Given the description of an element on the screen output the (x, y) to click on. 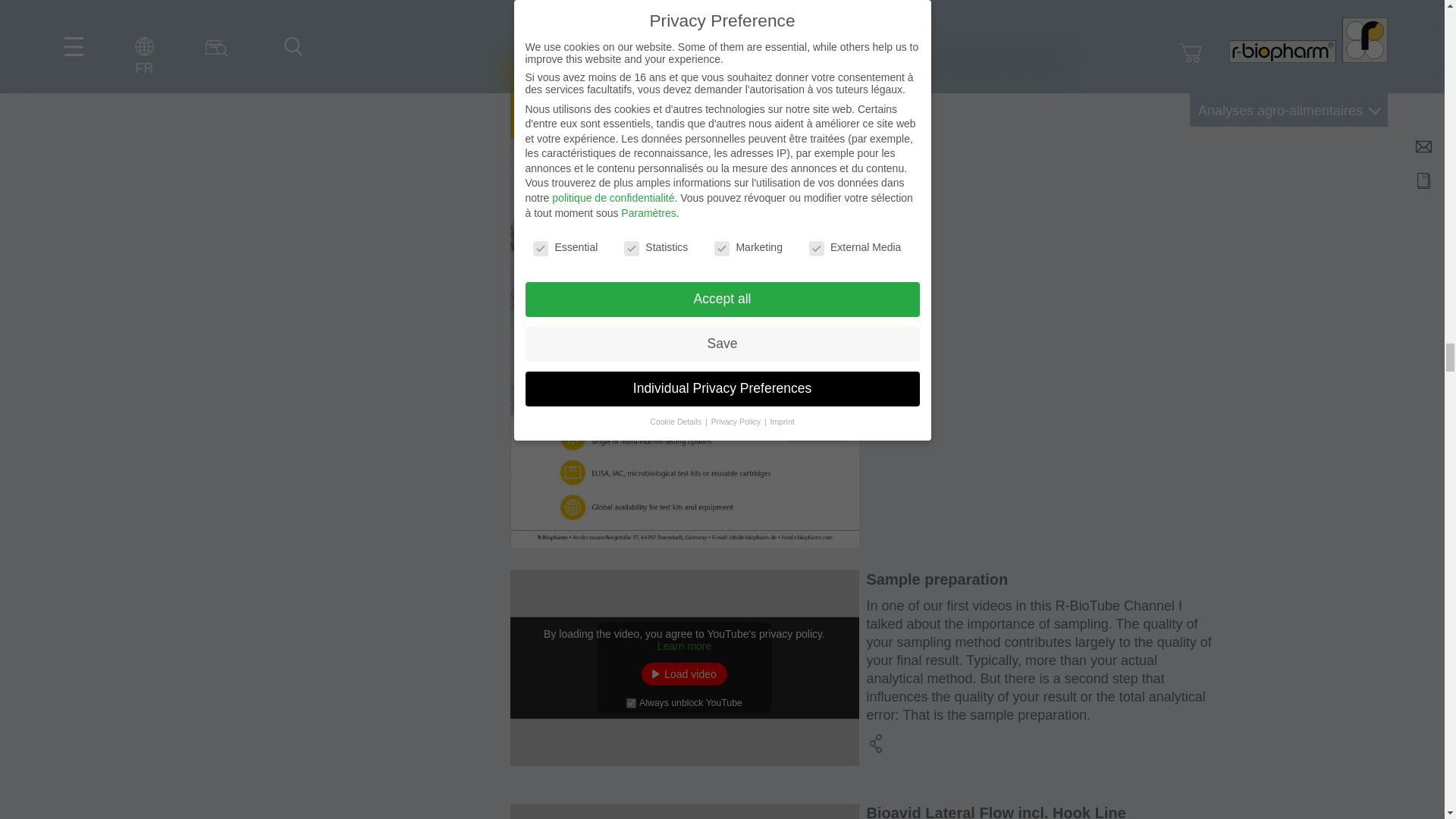
1 (631, 703)
